Given the description of an element on the screen output the (x, y) to click on. 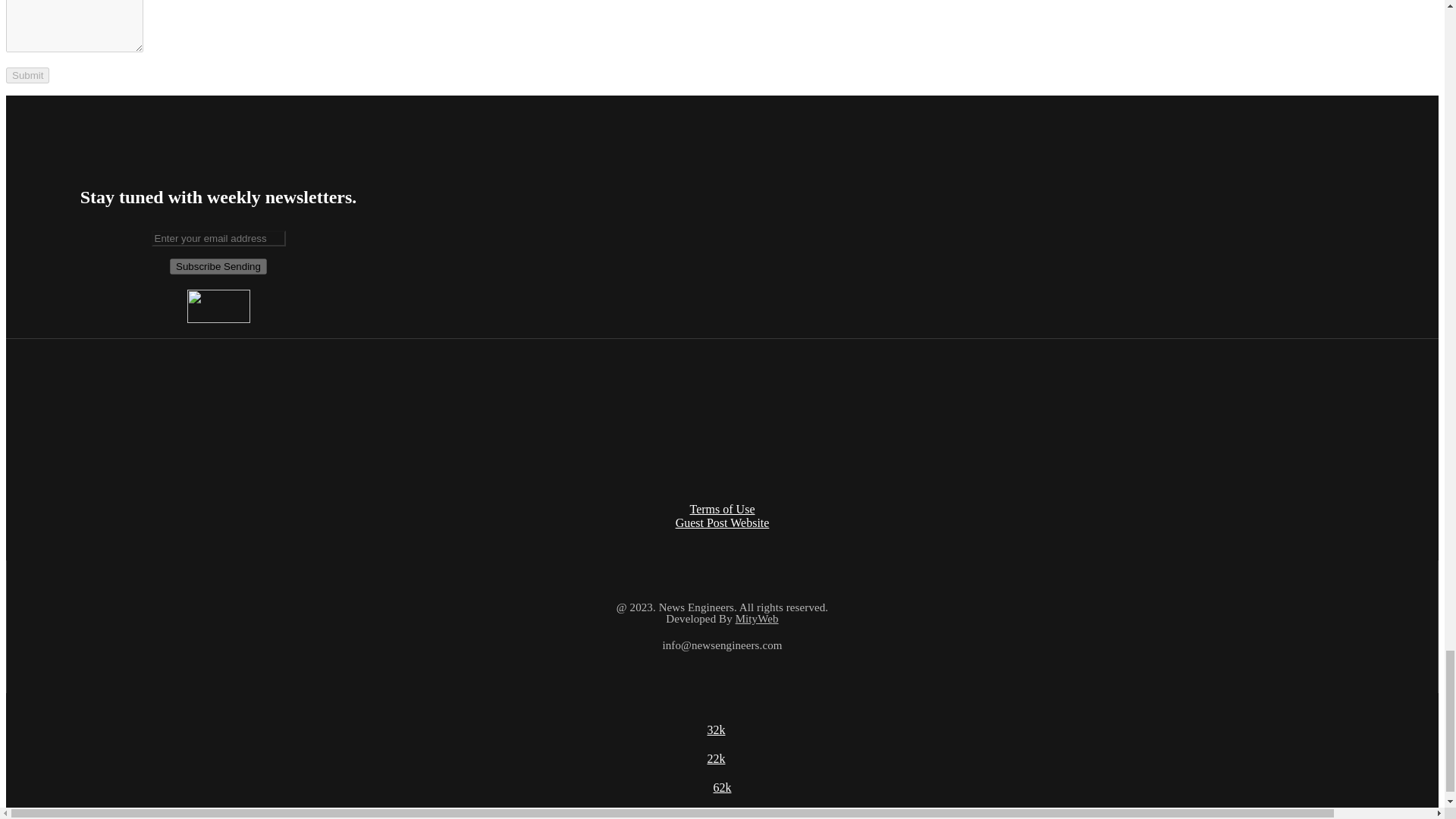
MityWeb (756, 618)
62k (721, 787)
Guest Post Website (722, 522)
Terms of Use (722, 508)
22k (715, 758)
Submit (27, 75)
Subscribe Sending (218, 266)
Submit (27, 75)
32k (715, 729)
